Given the description of an element on the screen output the (x, y) to click on. 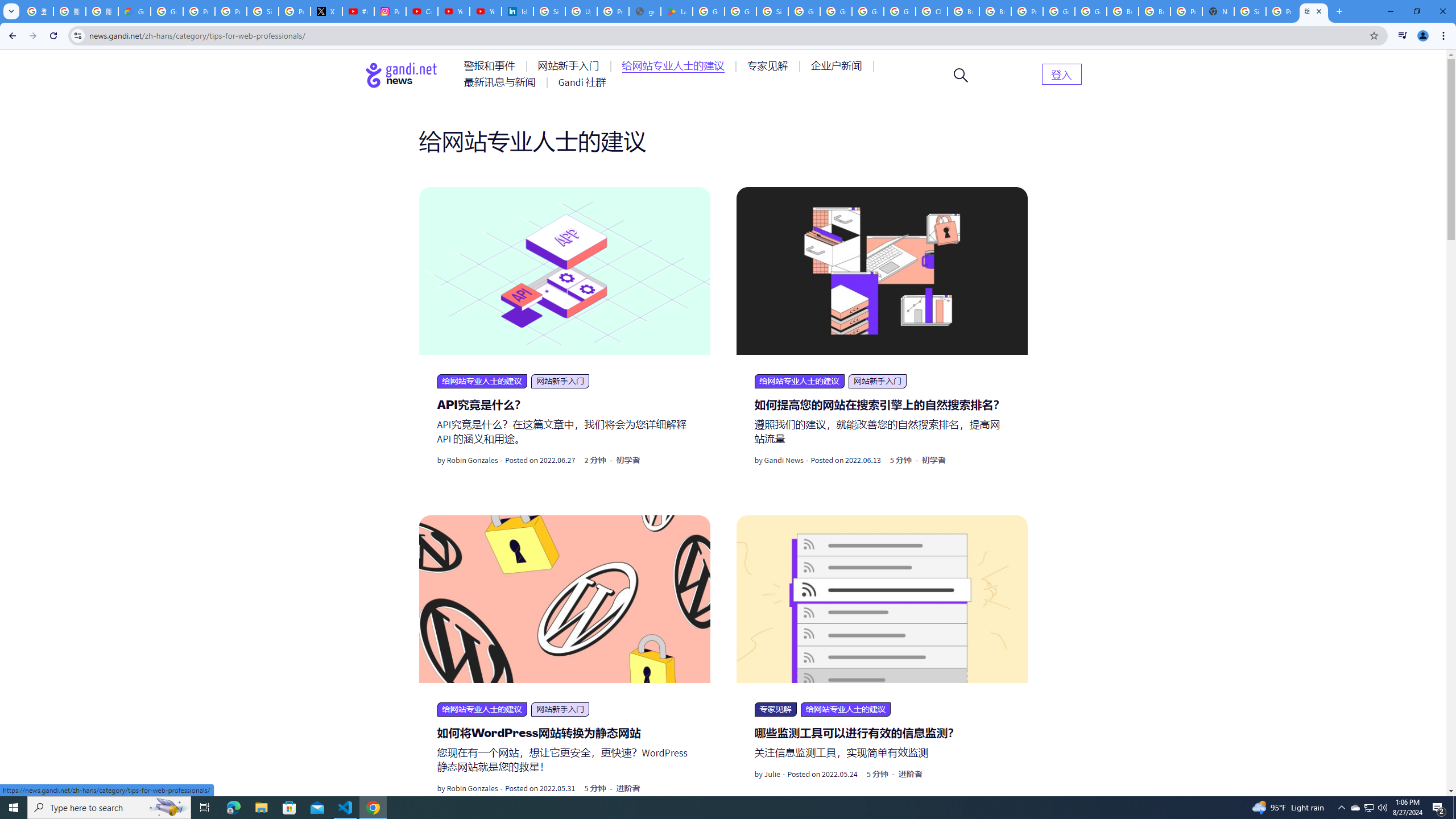
X (326, 11)
Browse Chrome as a guest - Computer - Google Chrome Help (1154, 11)
Sign in - Google Accounts (1249, 11)
#nbabasketballhighlights - YouTube (358, 11)
Privacy Help Center - Policies Help (230, 11)
Robin Gonzales (471, 787)
